Given the description of an element on the screen output the (x, y) to click on. 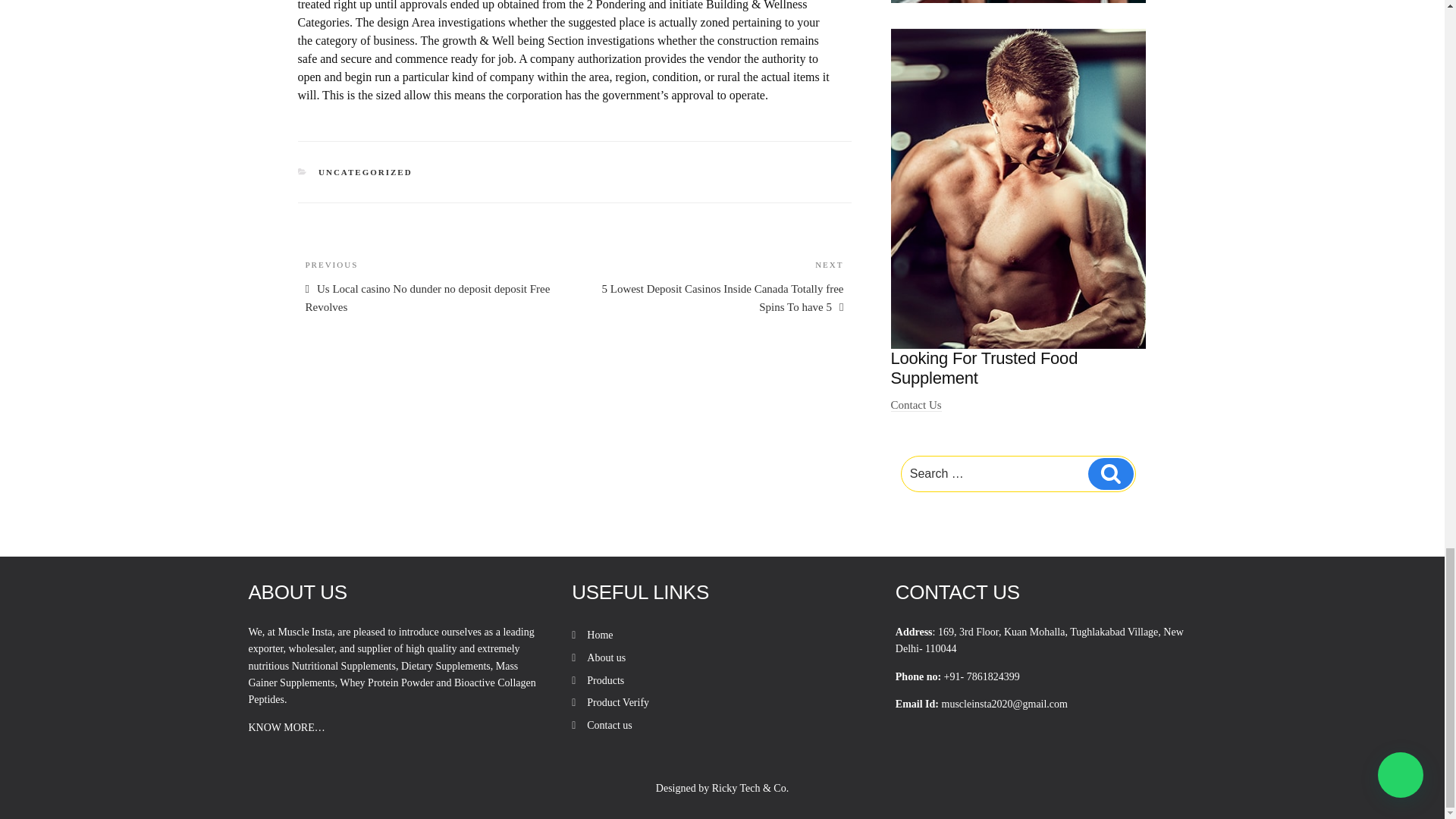
Search (1109, 473)
UNCATEGORIZED (365, 171)
Product Verify (617, 702)
Home (599, 634)
About us (606, 657)
Products (605, 680)
Contact us (608, 725)
Contact Us (916, 404)
